Given the description of an element on the screen output the (x, y) to click on. 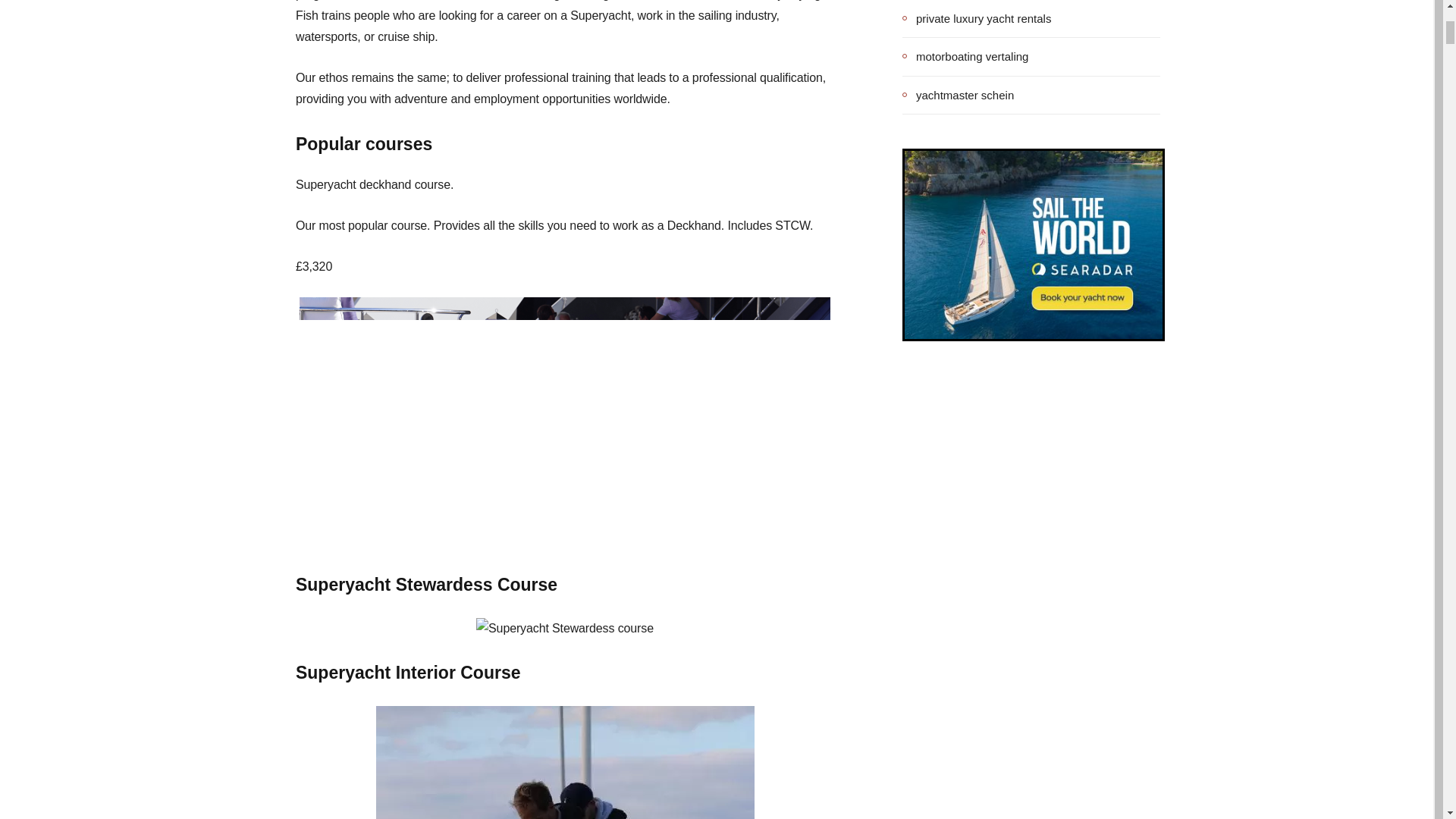
private luxury yacht rentals (976, 18)
yachtmaster schein (957, 94)
become a yachtie uk (564, 420)
motorboating vertaling (964, 56)
become a yachtie uk (564, 762)
become a yachtie uk (564, 628)
